Given the description of an element on the screen output the (x, y) to click on. 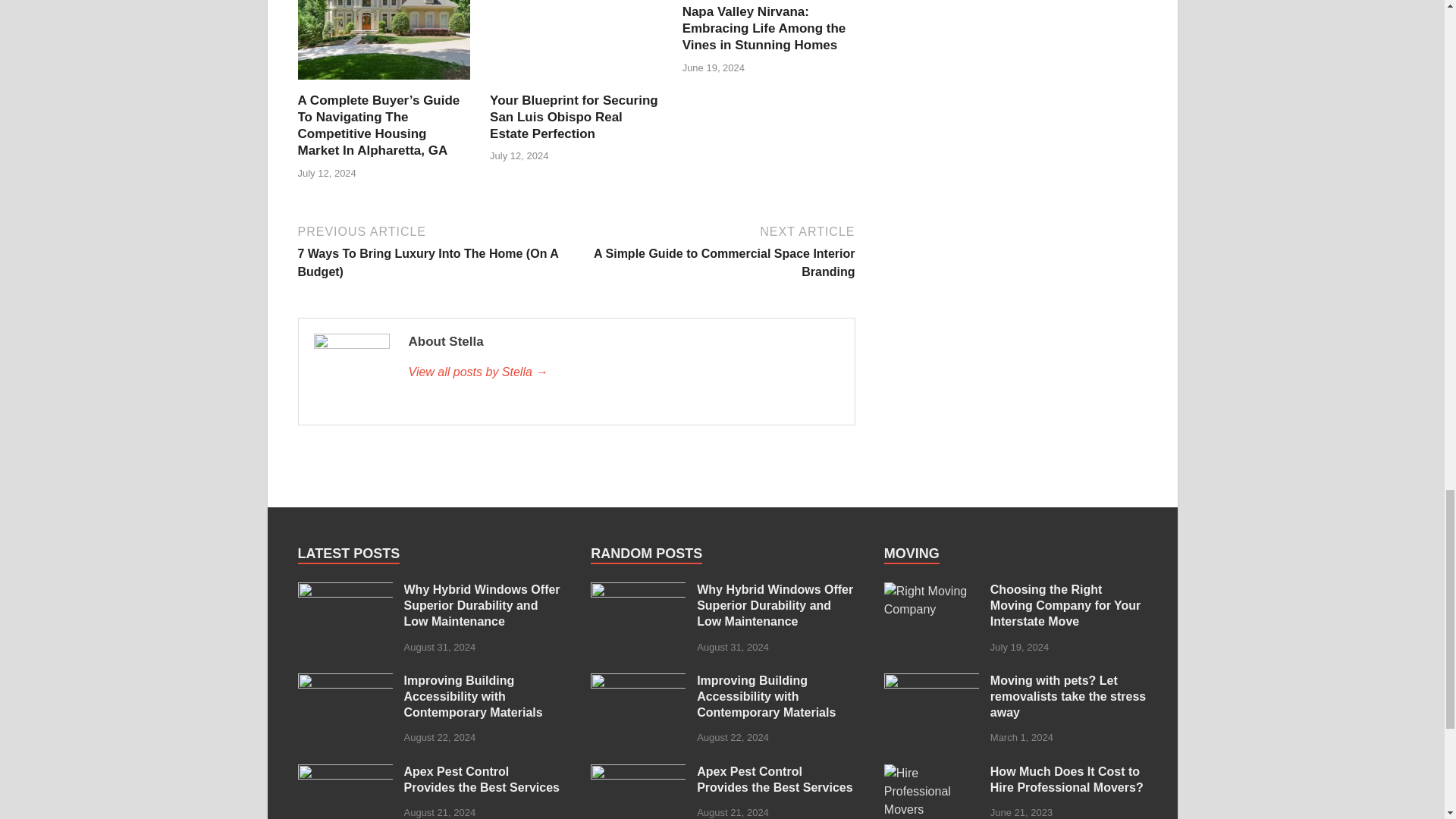
Stella (622, 372)
Improving Building Accessibility with Contemporary Materials (344, 681)
